Given the description of an element on the screen output the (x, y) to click on. 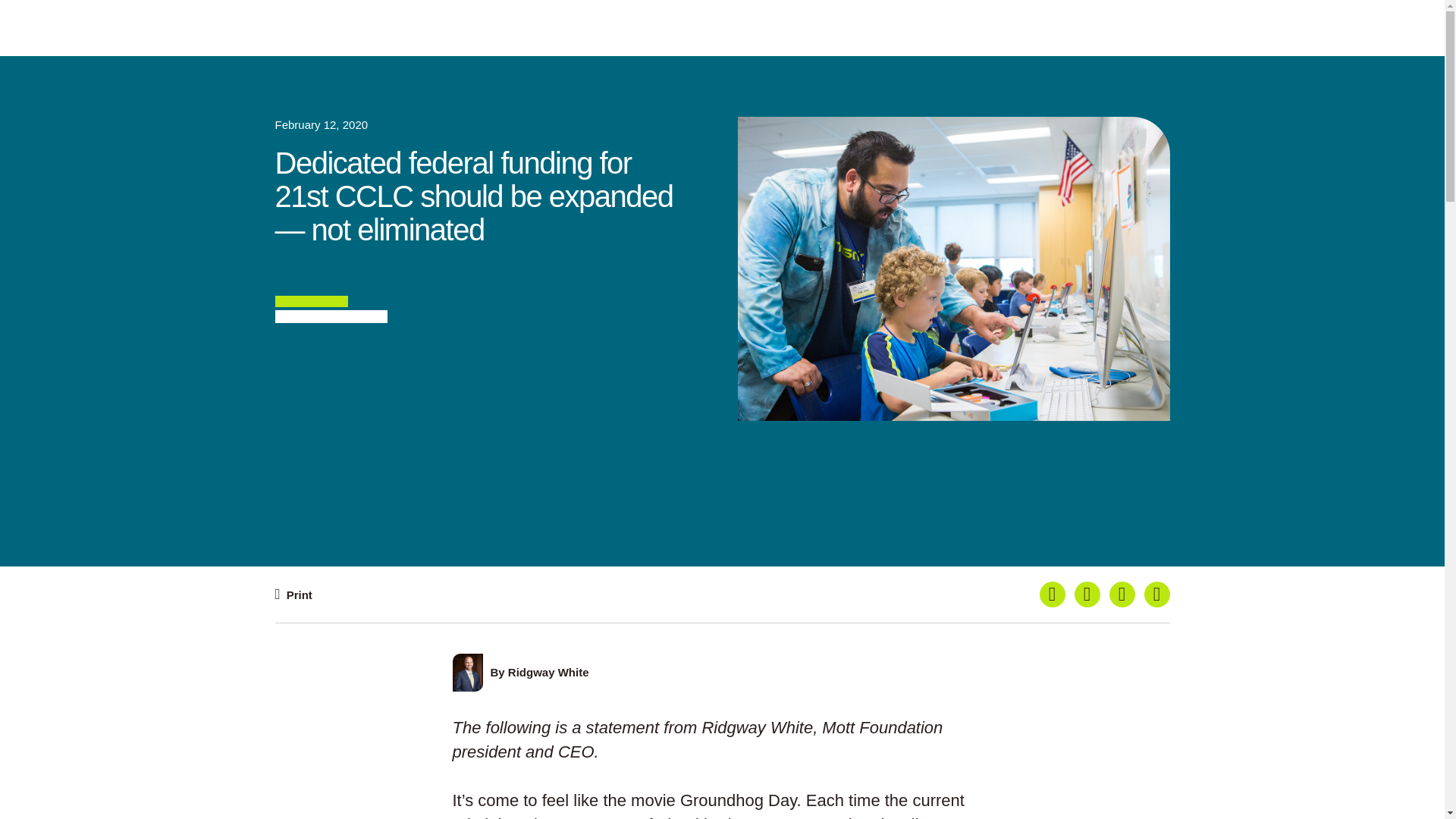
EDUCATION (311, 301)
Ridgway White (548, 671)
Advancing Afterschool (331, 316)
Print (293, 594)
